Given the description of an element on the screen output the (x, y) to click on. 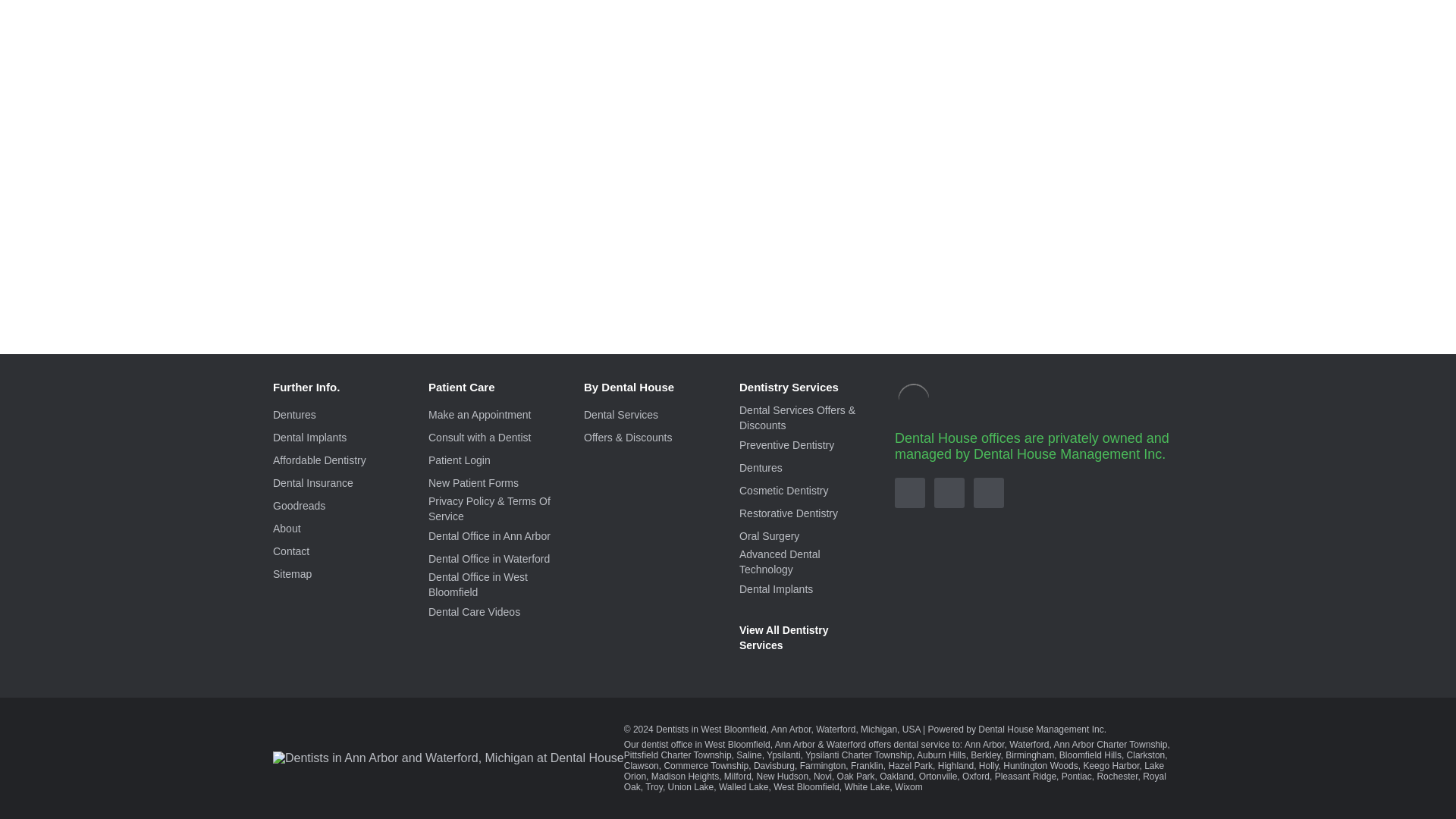
Dentist in Ann Arbor, MI (983, 744)
Dentist in Birmingham, MI (1030, 755)
Dentist in Berkley, MI (985, 755)
Dentist in Ann Arbor Charter Township, MI (1110, 744)
Dentist in Auburn Hills, MI (941, 755)
Dentist in Saline, MI (748, 755)
Dentist in Clarkston, MI (1146, 755)
Dentist in Ypsilanti Charter Township, MI (858, 755)
Dentist in Waterford, MI (1028, 744)
Dentist in Ypsilanti, MI (783, 755)
